Given the description of an element on the screen output the (x, y) to click on. 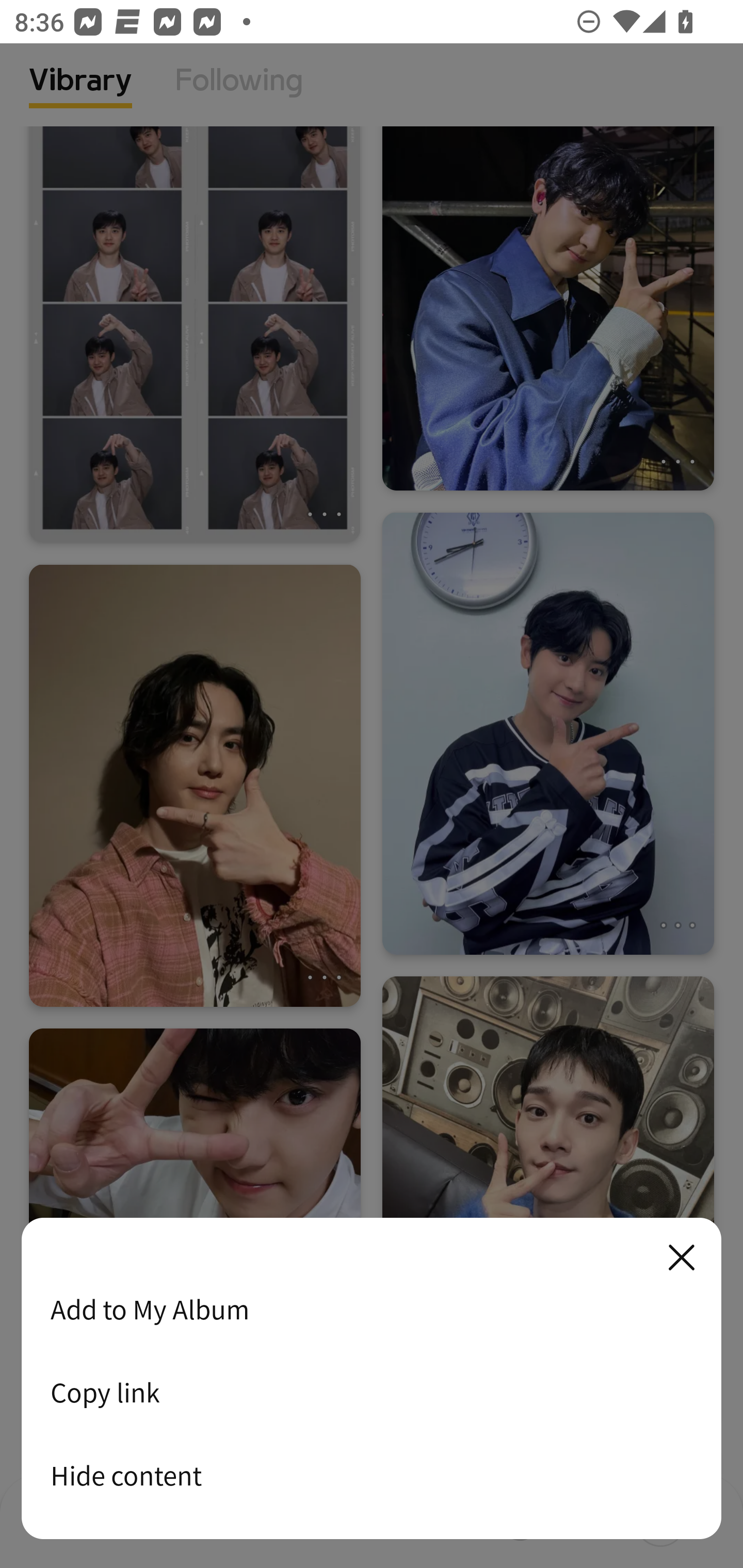
Add to My Album Copy link Hide content (371, 1378)
Add to My Album (371, 1308)
Copy link (371, 1391)
Hide content (371, 1474)
